Given the description of an element on the screen output the (x, y) to click on. 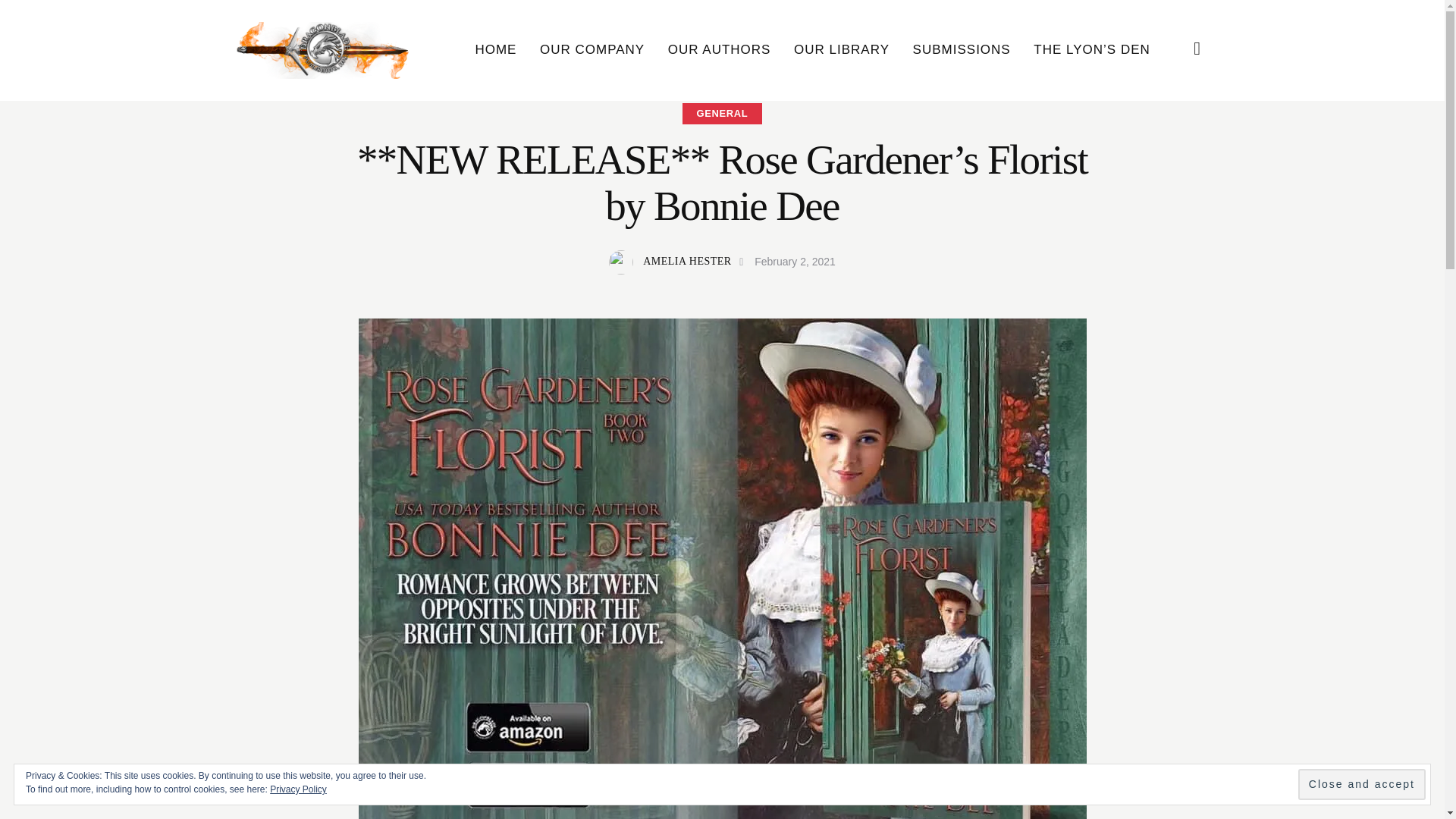
HOME (495, 50)
Close and accept (1361, 784)
OUR COMPANY (592, 50)
OUR LIBRARY (842, 50)
OUR AUTHORS (718, 50)
SUBMISSIONS (961, 50)
